Given the description of an element on the screen output the (x, y) to click on. 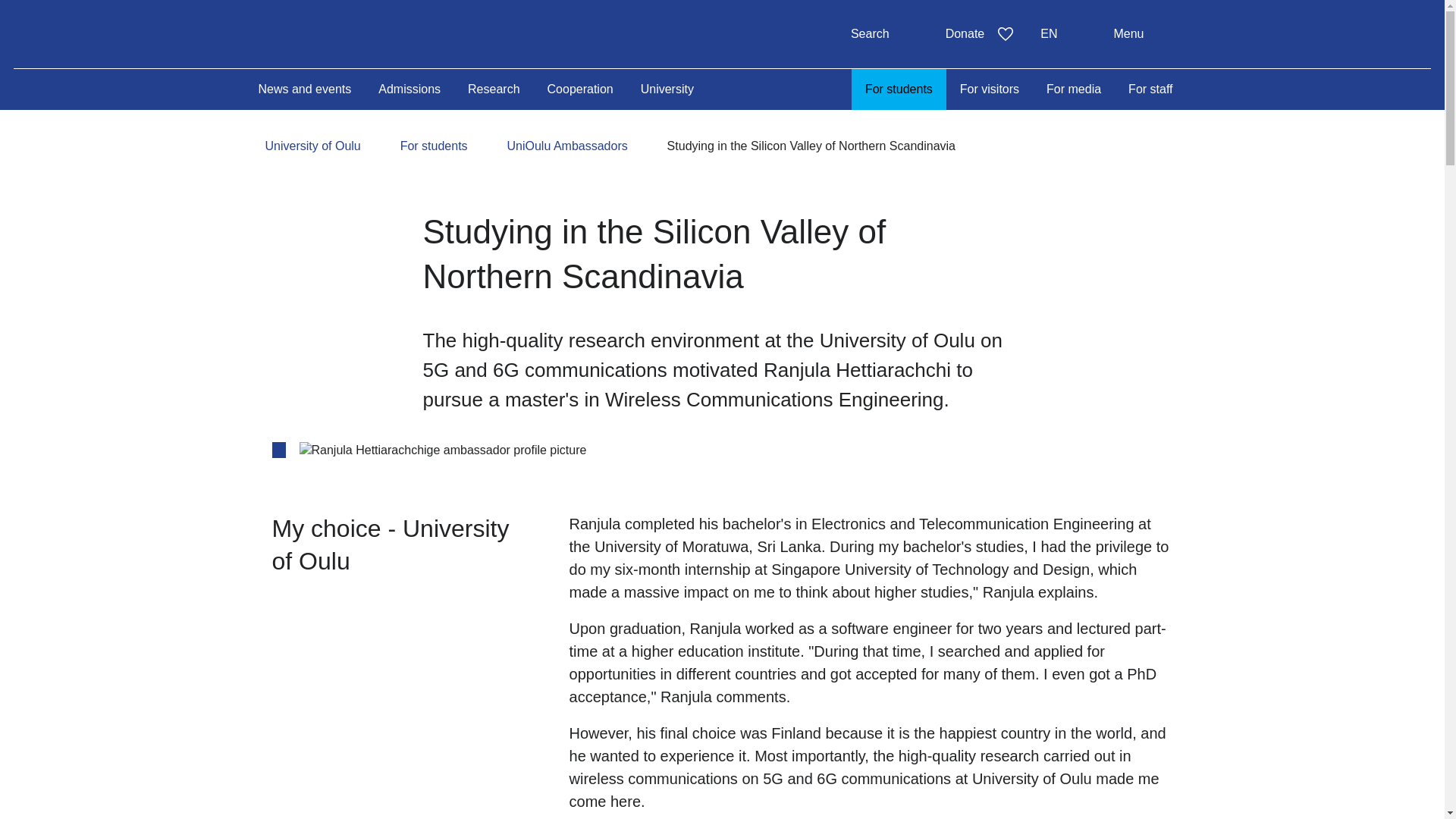
University of Oulu front page (1062, 33)
Donate (378, 31)
University of Oulu front page (979, 33)
Skip to main content (378, 33)
University of Oulu front page (884, 33)
